Given the description of an element on the screen output the (x, y) to click on. 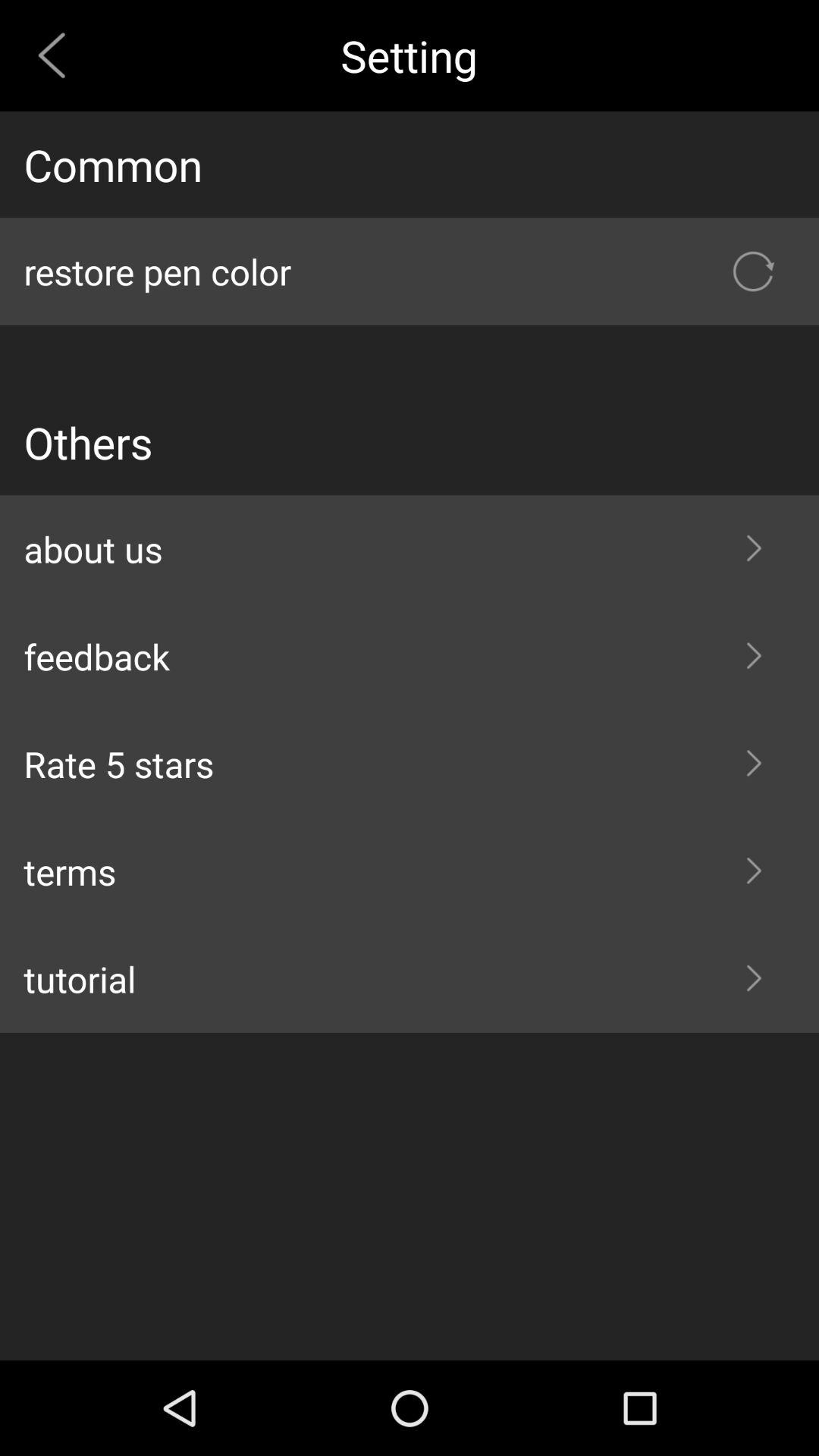
turn on icon to the left of setting (57, 55)
